Given the description of an element on the screen output the (x, y) to click on. 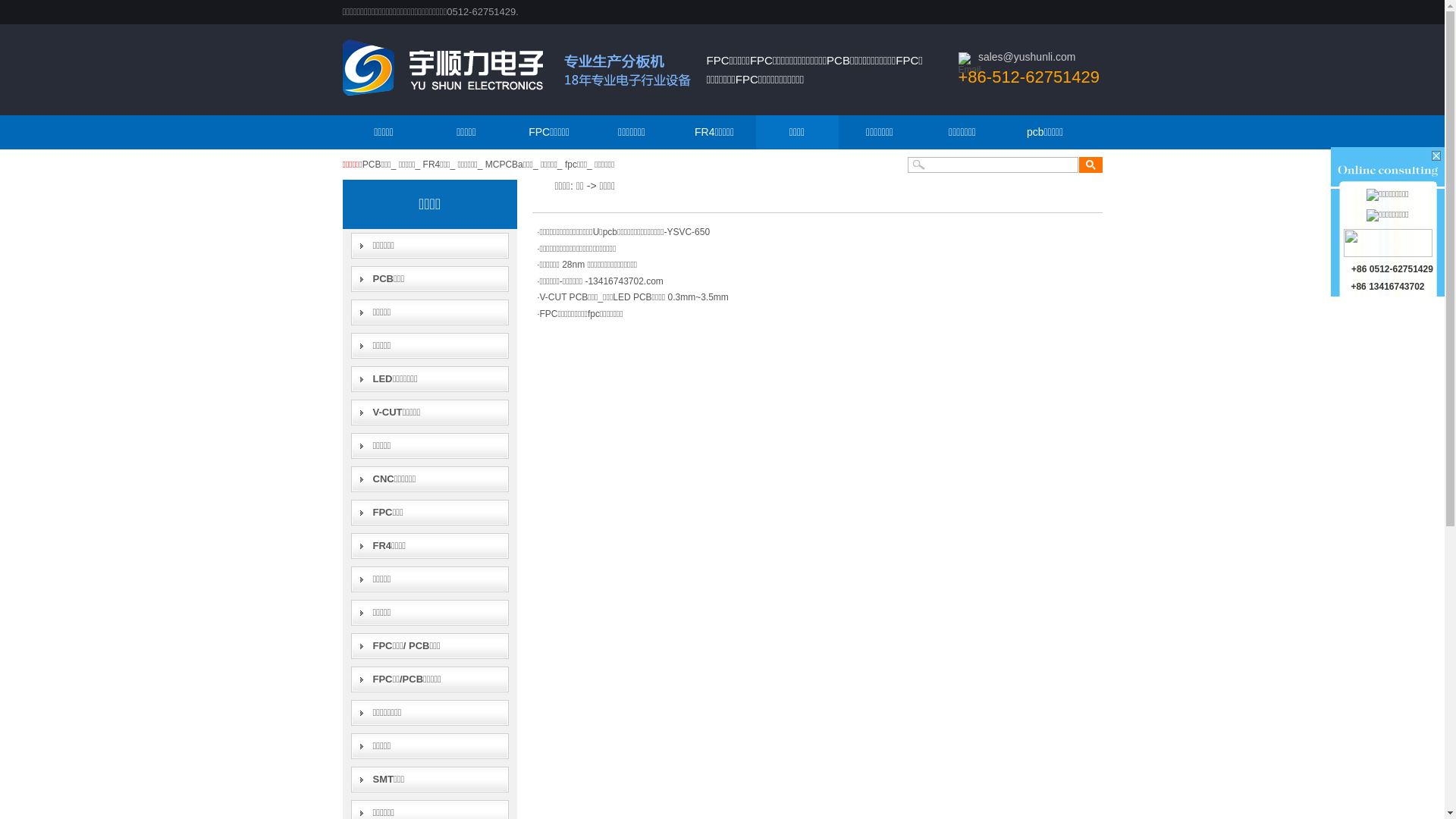
sales@yushunli.com Element type: text (1027, 56)
